Given the description of an element on the screen output the (x, y) to click on. 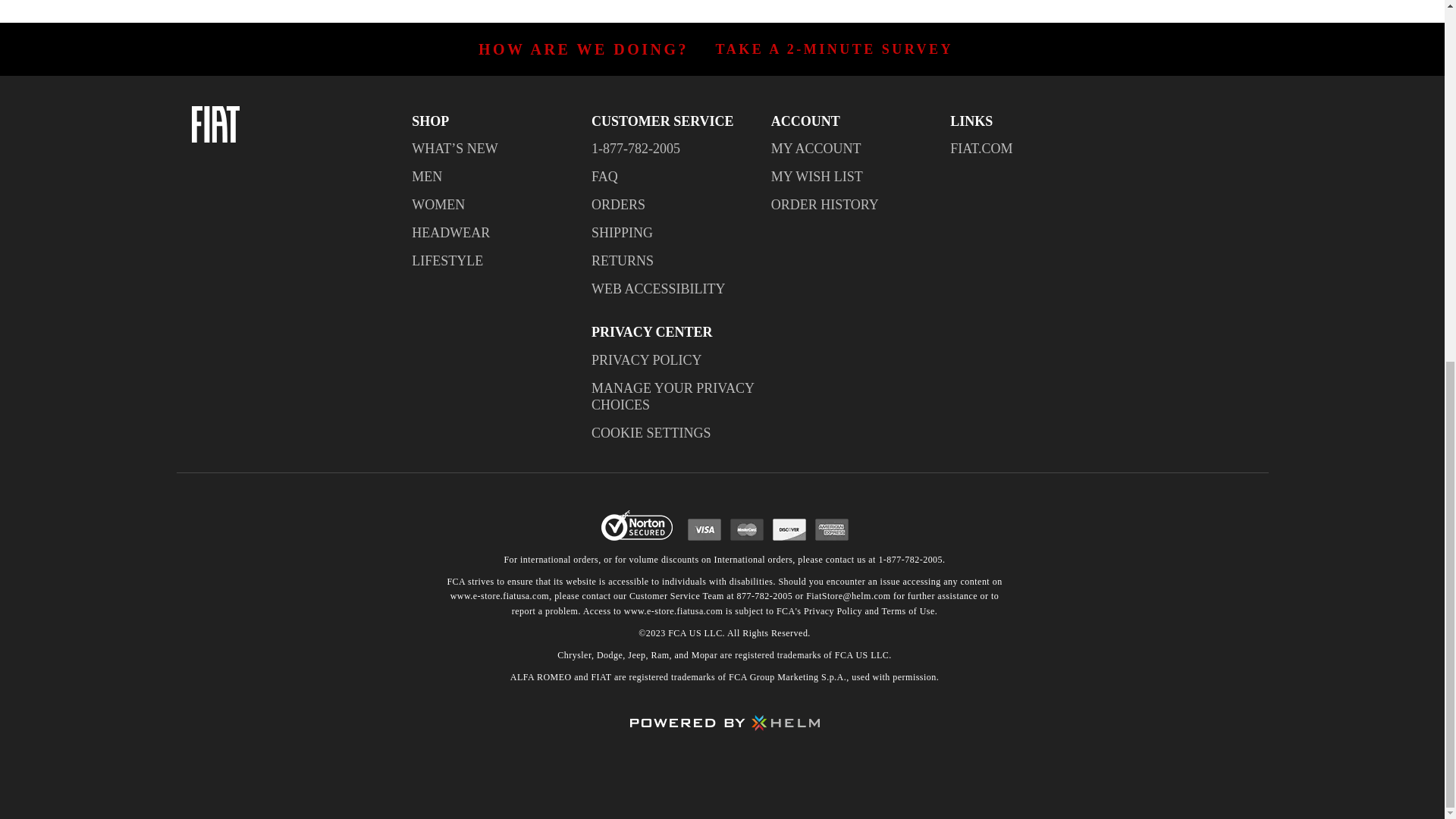
Click me for Take a 2-minute survey (834, 49)
Fiat Home Page (293, 124)
Powered by Helm (724, 727)
